Given the description of an element on the screen output the (x, y) to click on. 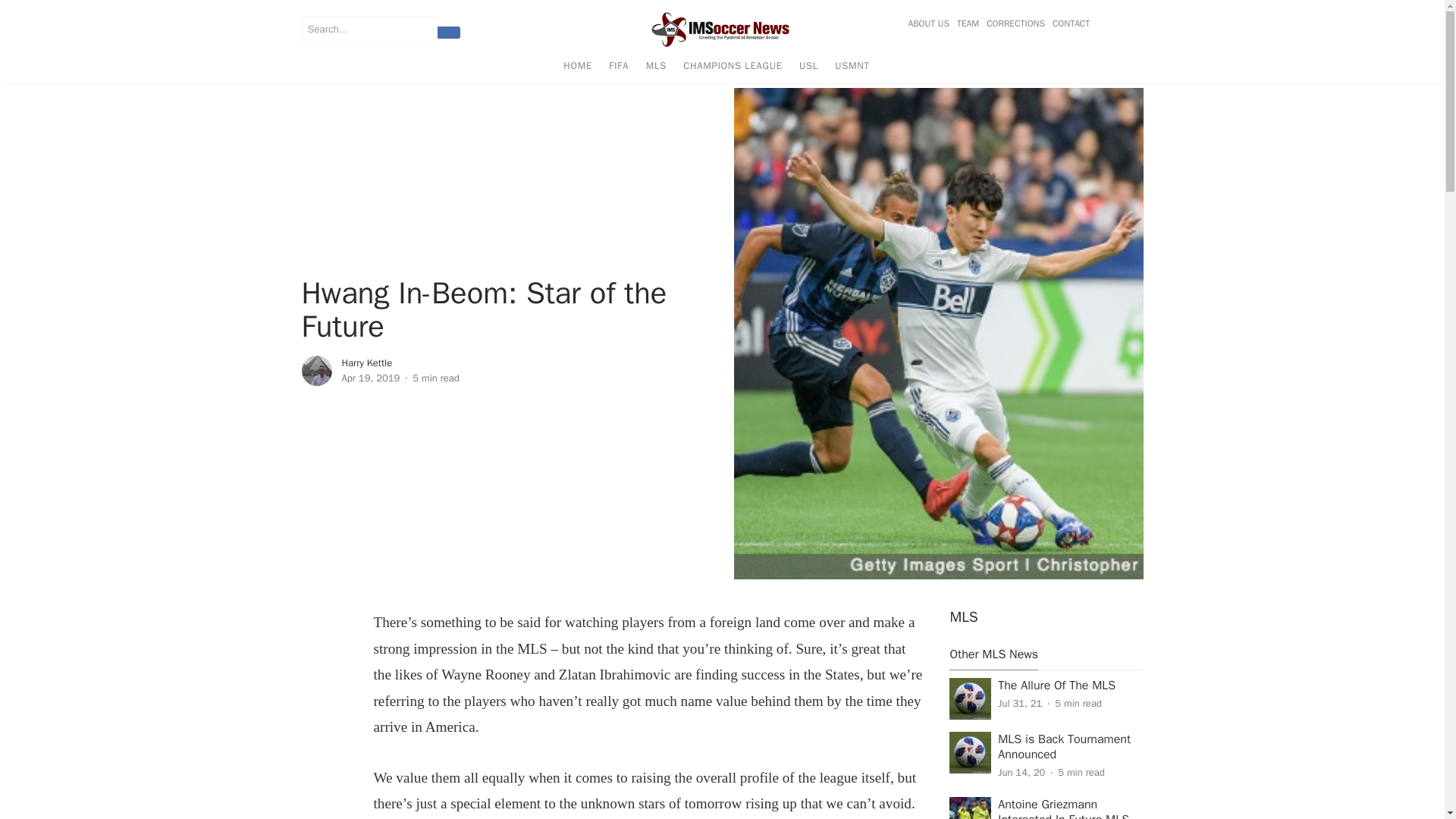
The Allure Of The MLS (1056, 685)
ABOUT US (929, 23)
CHAMPIONS LEAGUE (732, 68)
Harry Kettle (365, 362)
Search for: (369, 29)
MLS is Back Tournament Announced (1064, 747)
CORRECTIONS (1015, 23)
HOME (576, 68)
Antoine Griezmann Interested In Future MLS Switch (1063, 807)
FIFA (618, 68)
